Given the description of an element on the screen output the (x, y) to click on. 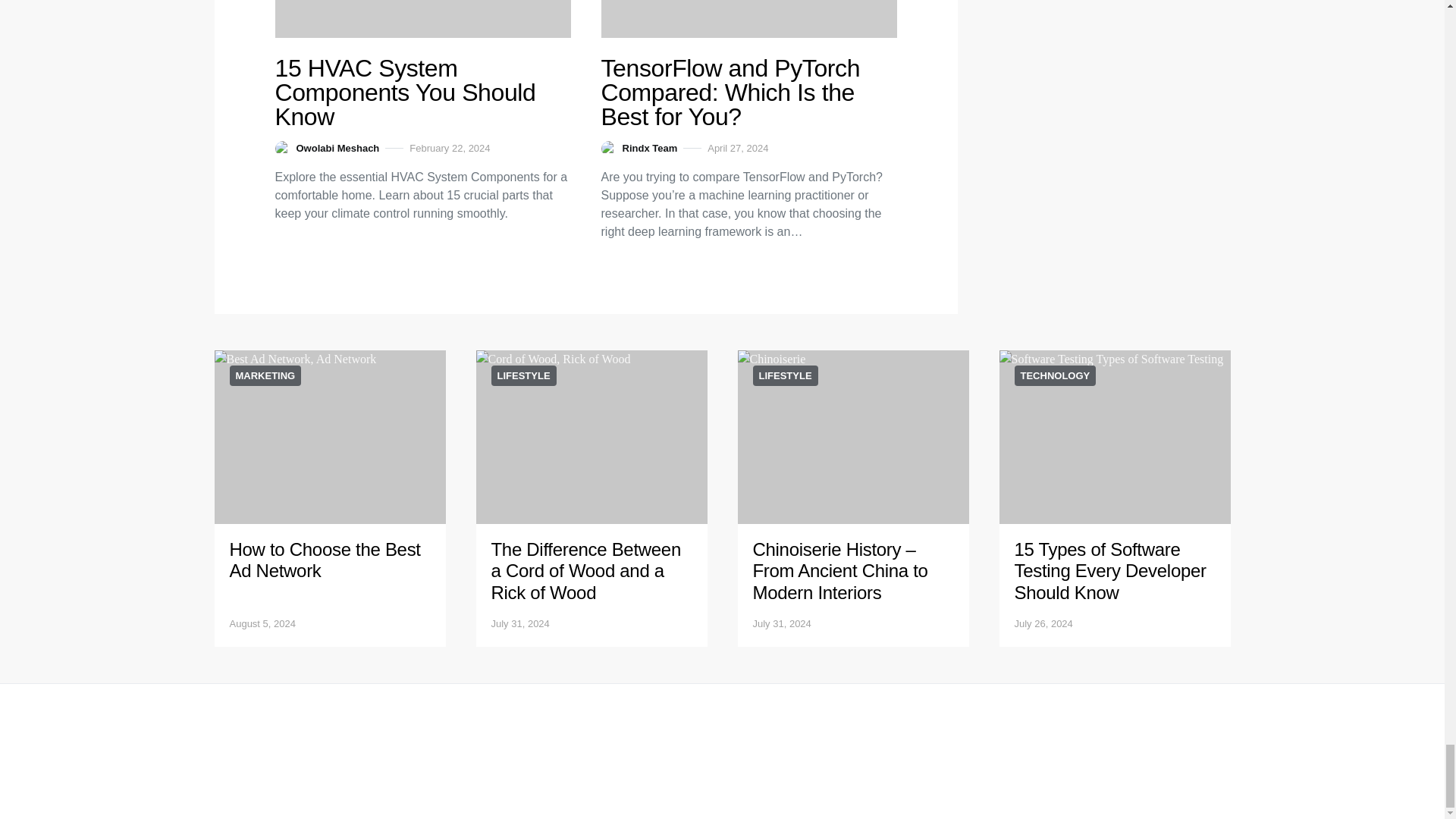
Software Sales Recruiters (422, 18)
Software Sales Recruiters (329, 437)
View all posts by Owolabi Meshach (326, 148)
How to Choose the Best Ad Network (324, 559)
Software Sales Recruiters (747, 18)
Software Sales Recruiters (591, 437)
View all posts by Rindx Team (638, 148)
